Given the description of an element on the screen output the (x, y) to click on. 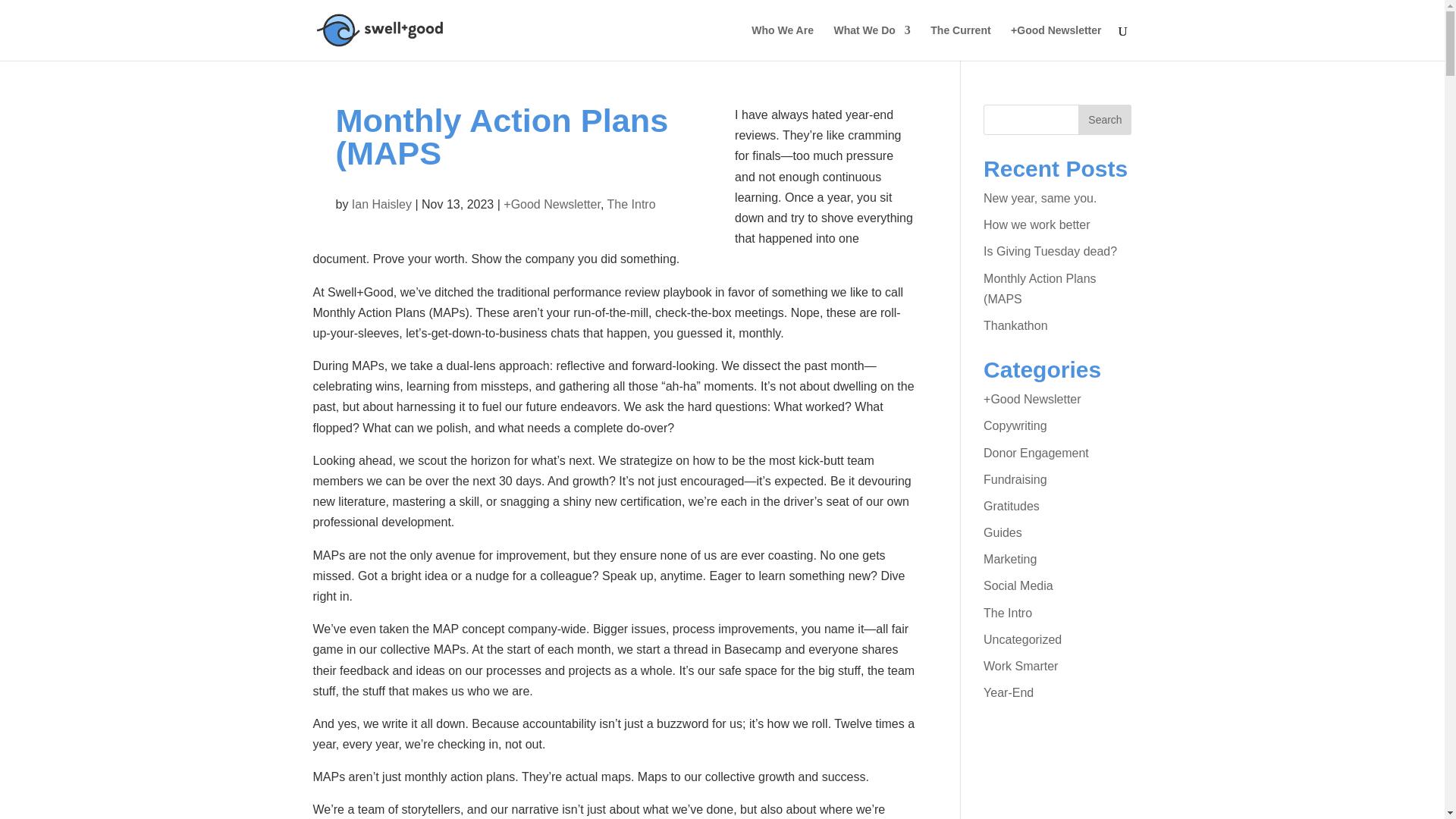
Ian Haisley (382, 204)
Who We Are (782, 42)
The Intro (631, 204)
Search (1104, 119)
What We Do (871, 42)
The Current (960, 42)
Posts by Ian Haisley (382, 204)
